Given the description of an element on the screen output the (x, y) to click on. 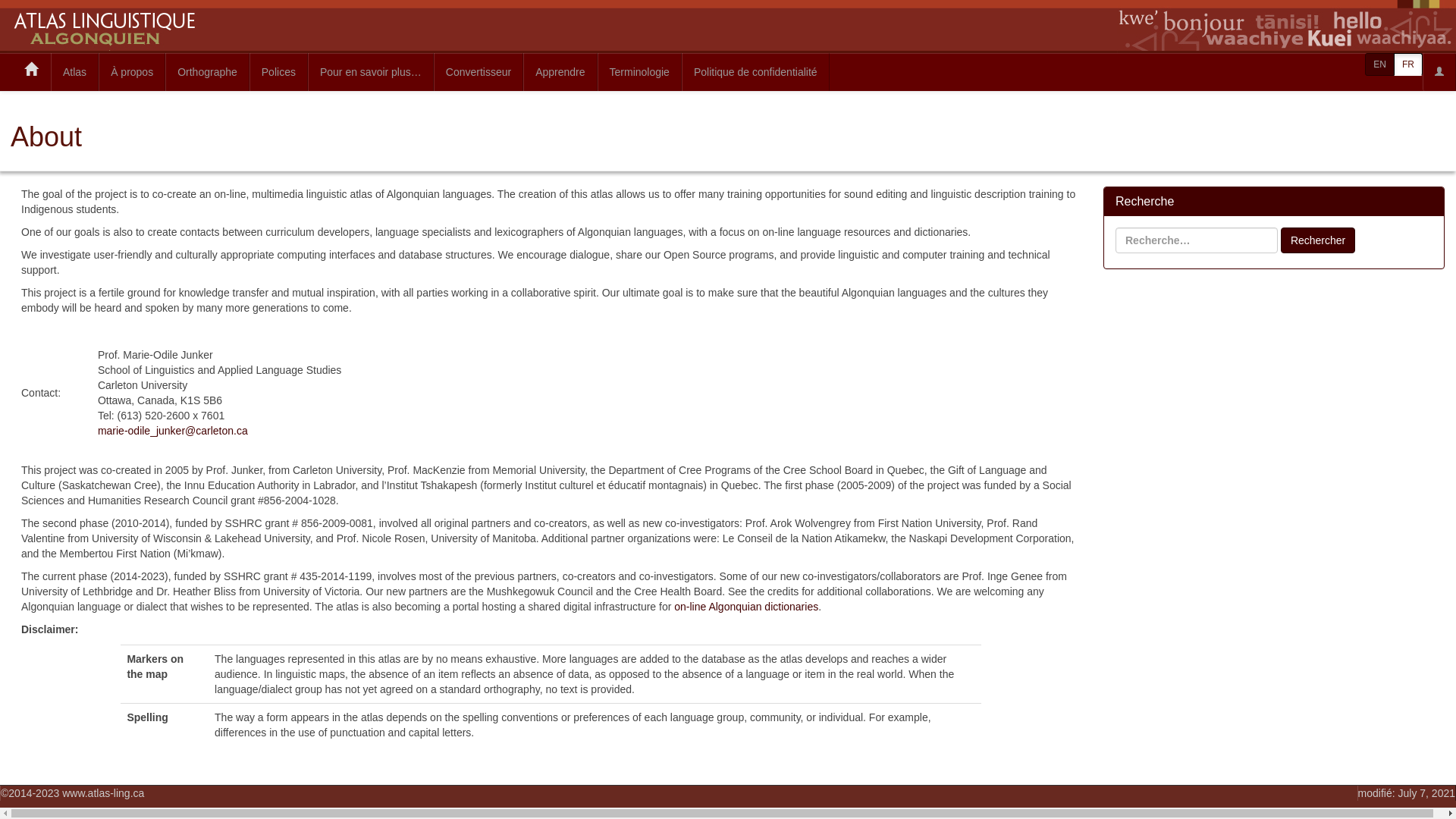
FR Element type: text (1407, 64)
marie-odile_junker@carleton.ca Element type: text (172, 430)
EN Element type: text (1379, 64)
Orthographe Element type: text (207, 72)
Apprendre Element type: text (559, 72)
Convertisseur Element type: text (478, 72)
Rechercher Element type: text (1317, 240)
Polices Element type: text (278, 72)
Atlas Element type: text (74, 72)
Terminologie Element type: text (639, 72)
on-line Algonquian dictionaries Element type: text (746, 606)
